Given the description of an element on the screen output the (x, y) to click on. 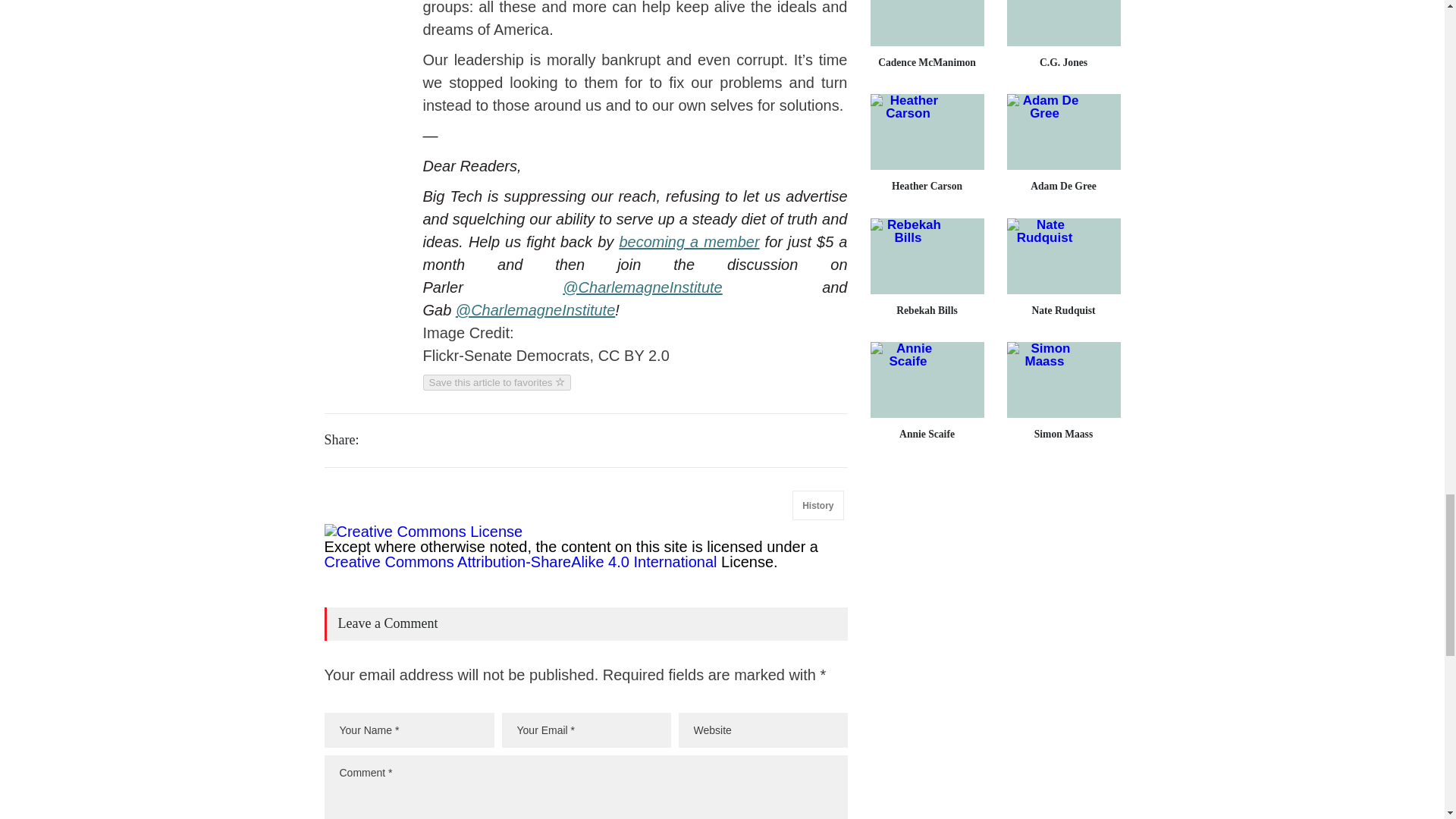
Website (762, 729)
